Given the description of an element on the screen output the (x, y) to click on. 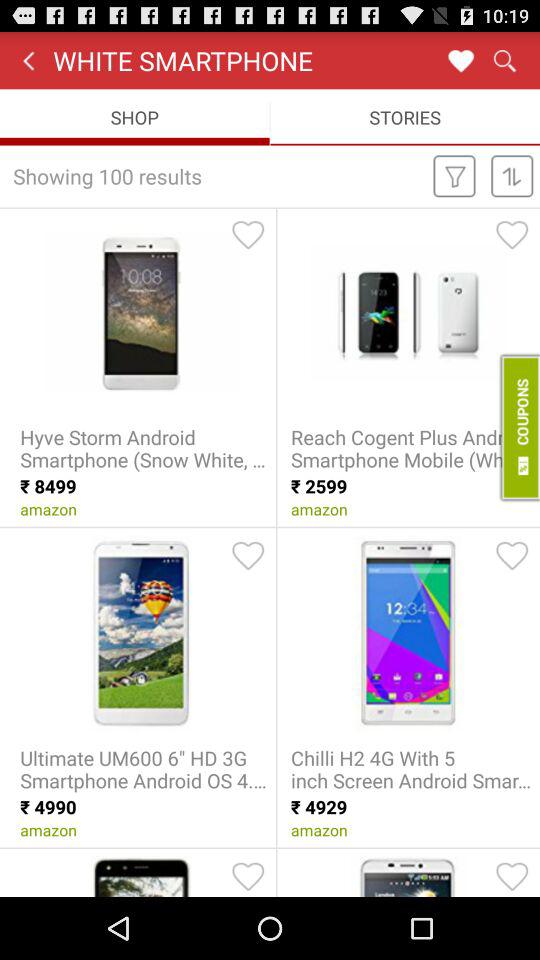
open item next to amazon item (518, 427)
